Given the description of an element on the screen output the (x, y) to click on. 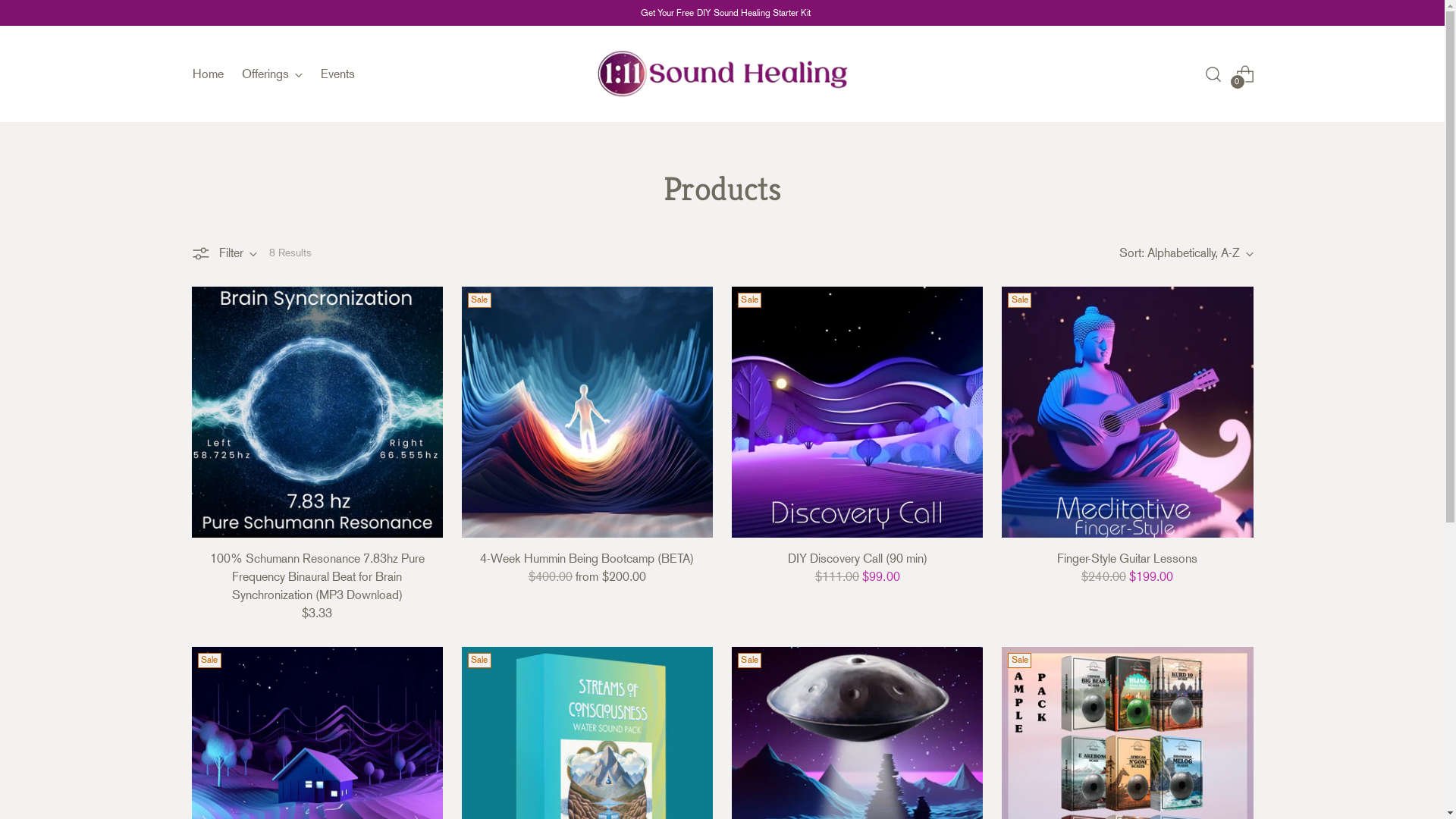
DIY Discovery Call (90 min) Element type: text (857, 558)
Events Element type: text (337, 74)
Home Element type: text (207, 74)
Sort: Alphabetically, A-Z Element type: text (1186, 252)
4-Week Hummin Being Bootcamp (BETA) Element type: text (586, 558)
Filter Element type: text (223, 253)
Offerings Element type: text (271, 74)
0 Element type: text (1245, 74)
Finger-Style Guitar Lessons Element type: text (1127, 558)
